Given the description of an element on the screen output the (x, y) to click on. 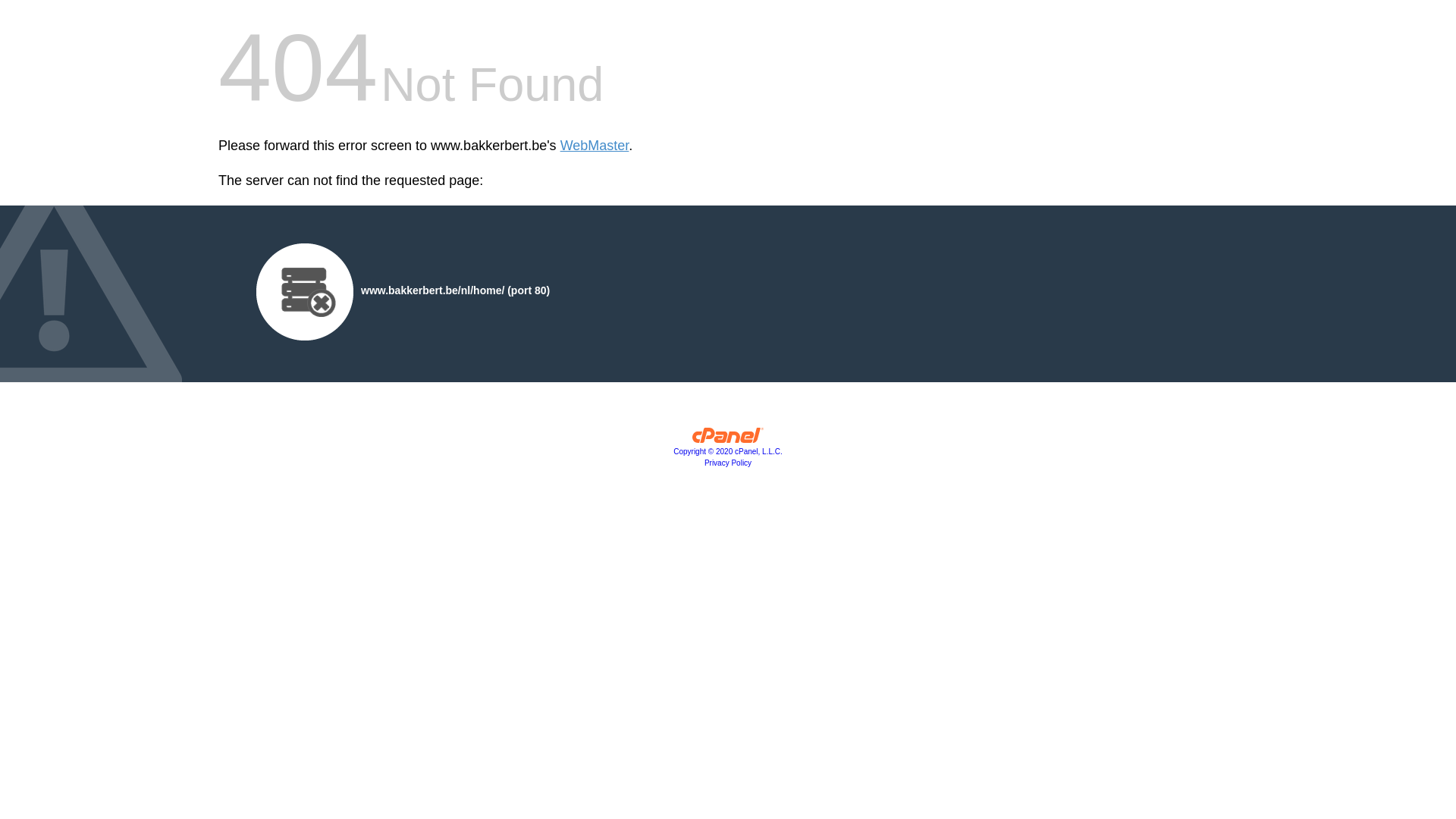
Privacy Policy Element type: text (727, 462)
WebMaster Element type: text (594, 145)
cPanel, Inc. Element type: hover (728, 439)
